Given the description of an element on the screen output the (x, y) to click on. 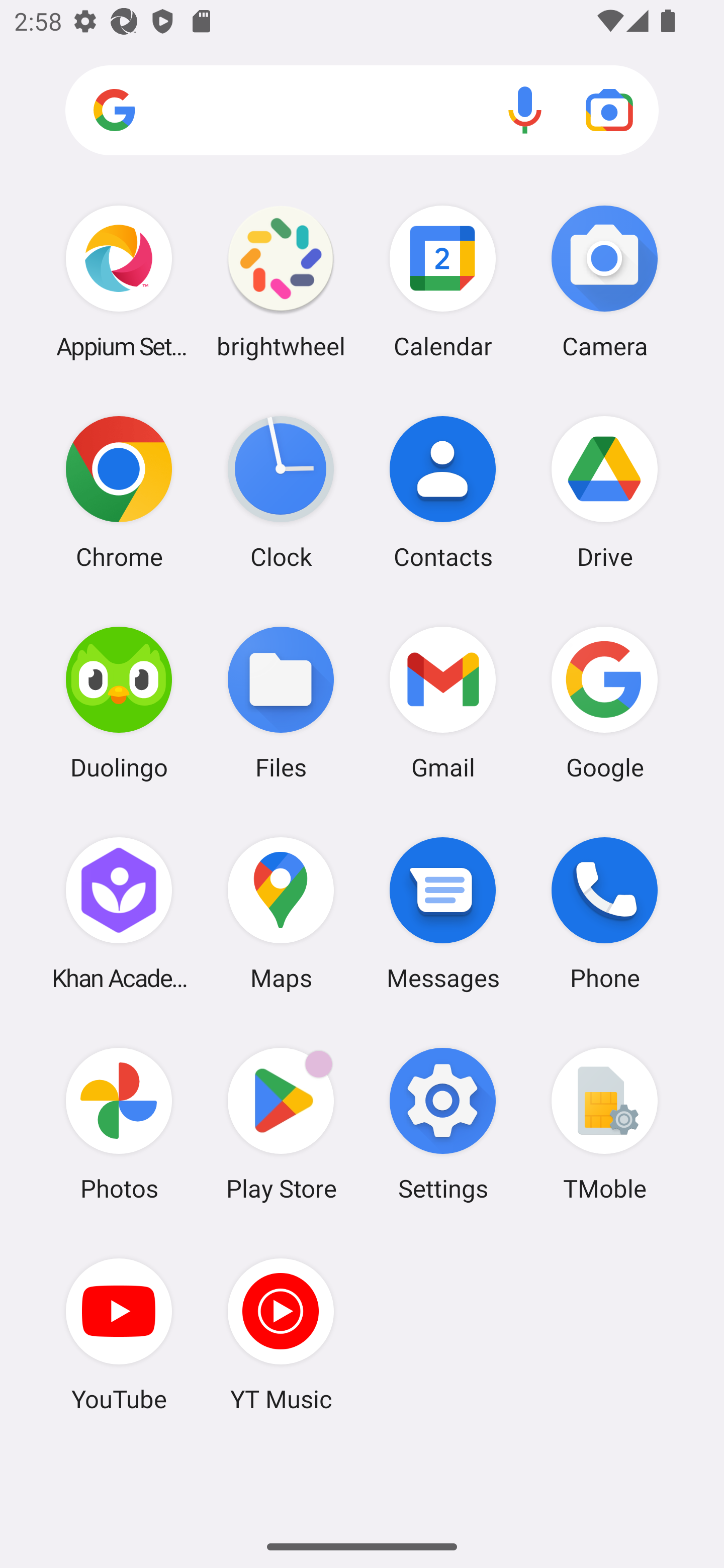
Voice search (524, 109)
Google Lens (608, 109)
Appium Settings (118, 281)
brightwheel (280, 281)
Calendar (443, 281)
Camera (604, 281)
Chrome (118, 492)
Clock (280, 492)
Contacts (443, 492)
Drive (604, 492)
Duolingo (118, 702)
Files (280, 702)
Gmail (443, 702)
Google (604, 702)
Khan Academy (118, 913)
Maps (280, 913)
Messages (443, 913)
Phone (604, 913)
Photos (118, 1124)
Play Store Play Store has 1 notification (280, 1124)
Settings (443, 1124)
TMoble (604, 1124)
YouTube (118, 1334)
YT Music (280, 1334)
